Given the description of an element on the screen output the (x, y) to click on. 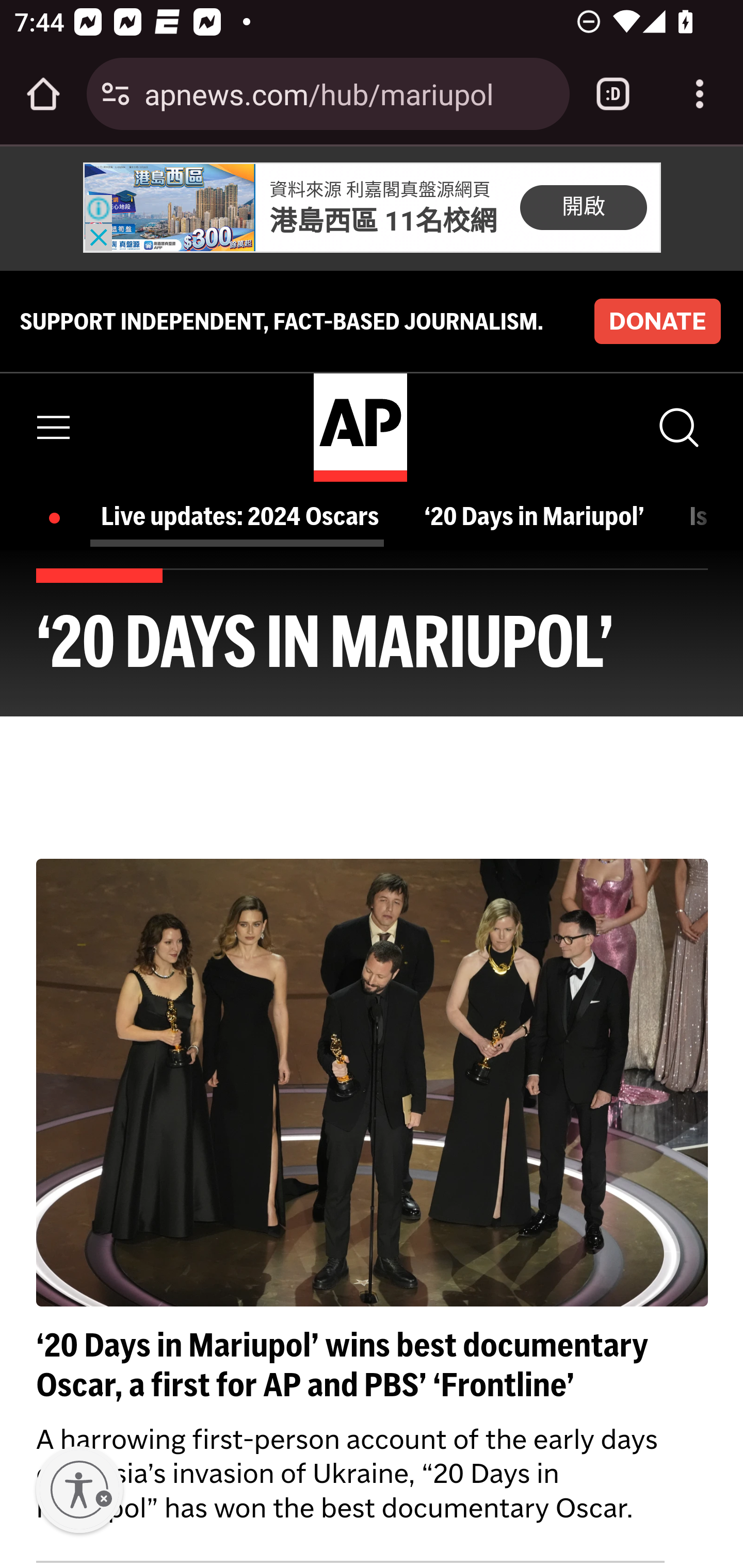
Open the home page (43, 93)
Connection is secure (115, 93)
Switch or close tabs (612, 93)
Customize and control Google Chrome (699, 93)
apnews.com/hub/mariupol (349, 92)
資料來源 利嘉閣真盤源網頁 (379, 190)
開啟 (582, 206)
港島西區 11名校網 (383, 220)
DONATE (657, 320)
home page AP Logo (359, 426)
Menu (54, 427)
Show Search (677, 427)
Live updates: 2024 Oscars (245, 516)
‘20 Days in Mariupol’ (538, 516)
Israel-Hamas war (698, 516)
Enable accessibility (79, 1490)
